Given the description of an element on the screen output the (x, y) to click on. 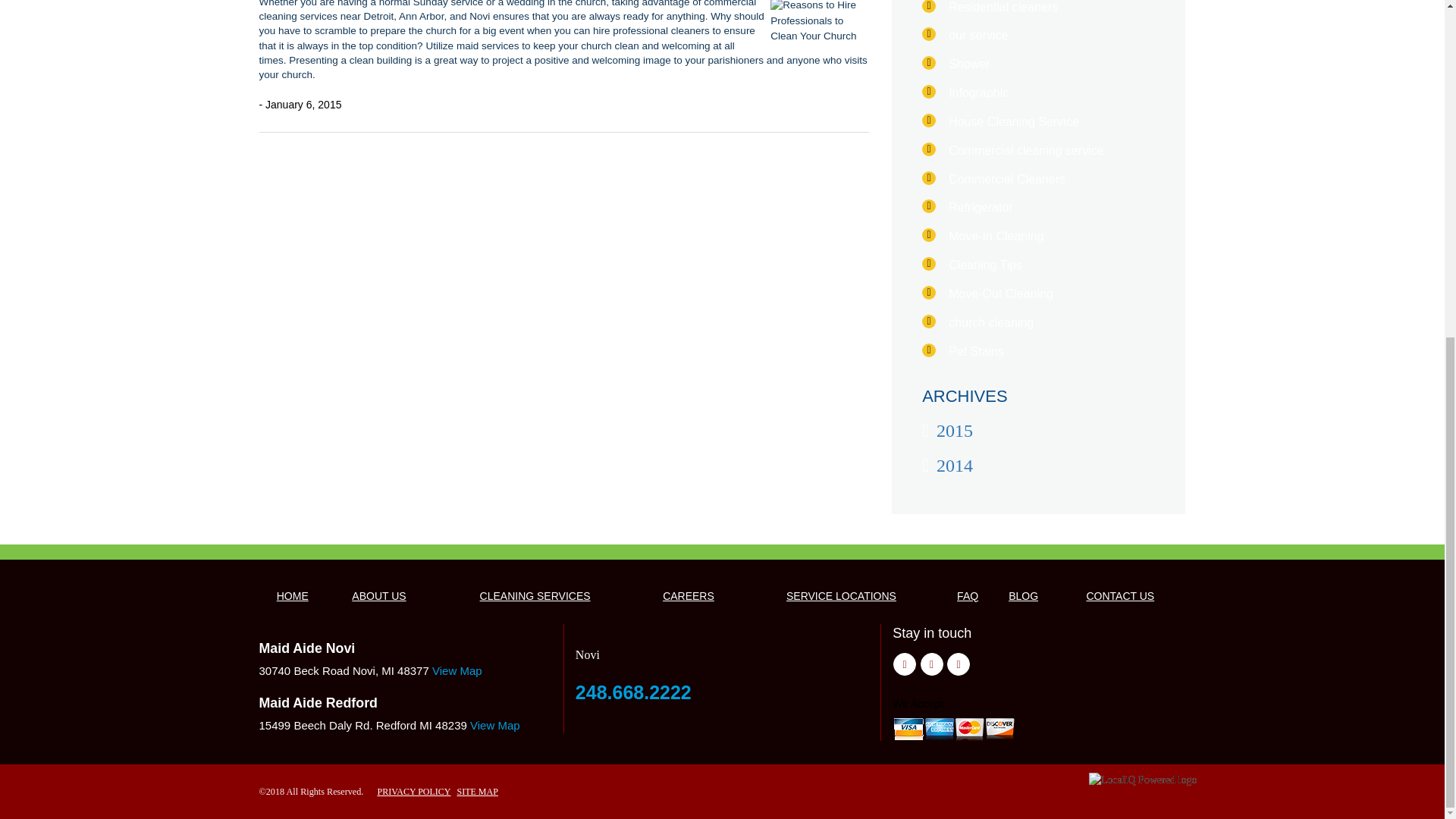
- January 6, 2015 (300, 104)
Refrigerator (980, 206)
Move-In Cleaning (996, 236)
House Cleaning Service (1013, 121)
Commercial cleaning service (1026, 150)
our service (978, 34)
Cleaning Tips (985, 264)
Residential cleaners (1003, 6)
Next Post (861, 147)
Infographic (979, 92)
